Given the description of an element on the screen output the (x, y) to click on. 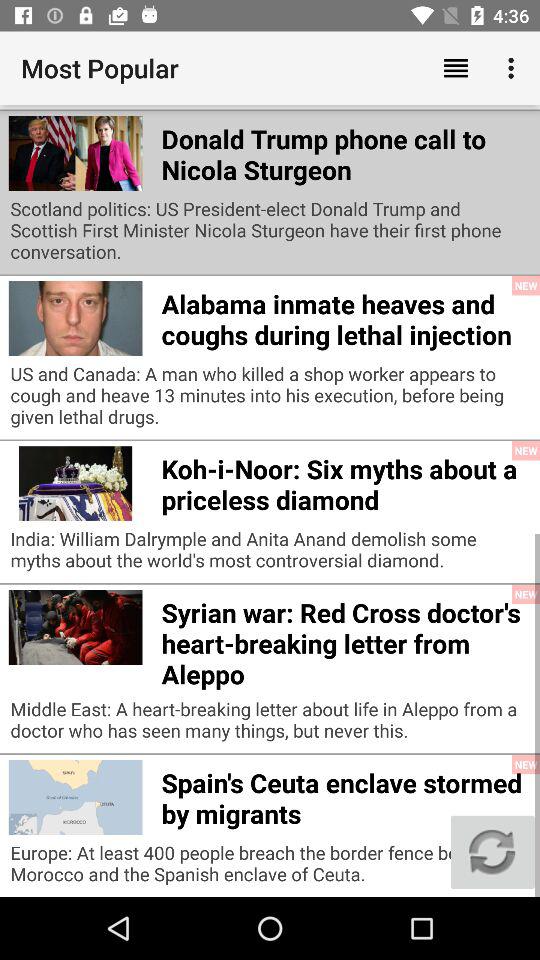
scroll until the india william dalrymple app (270, 554)
